Given the description of an element on the screen output the (x, y) to click on. 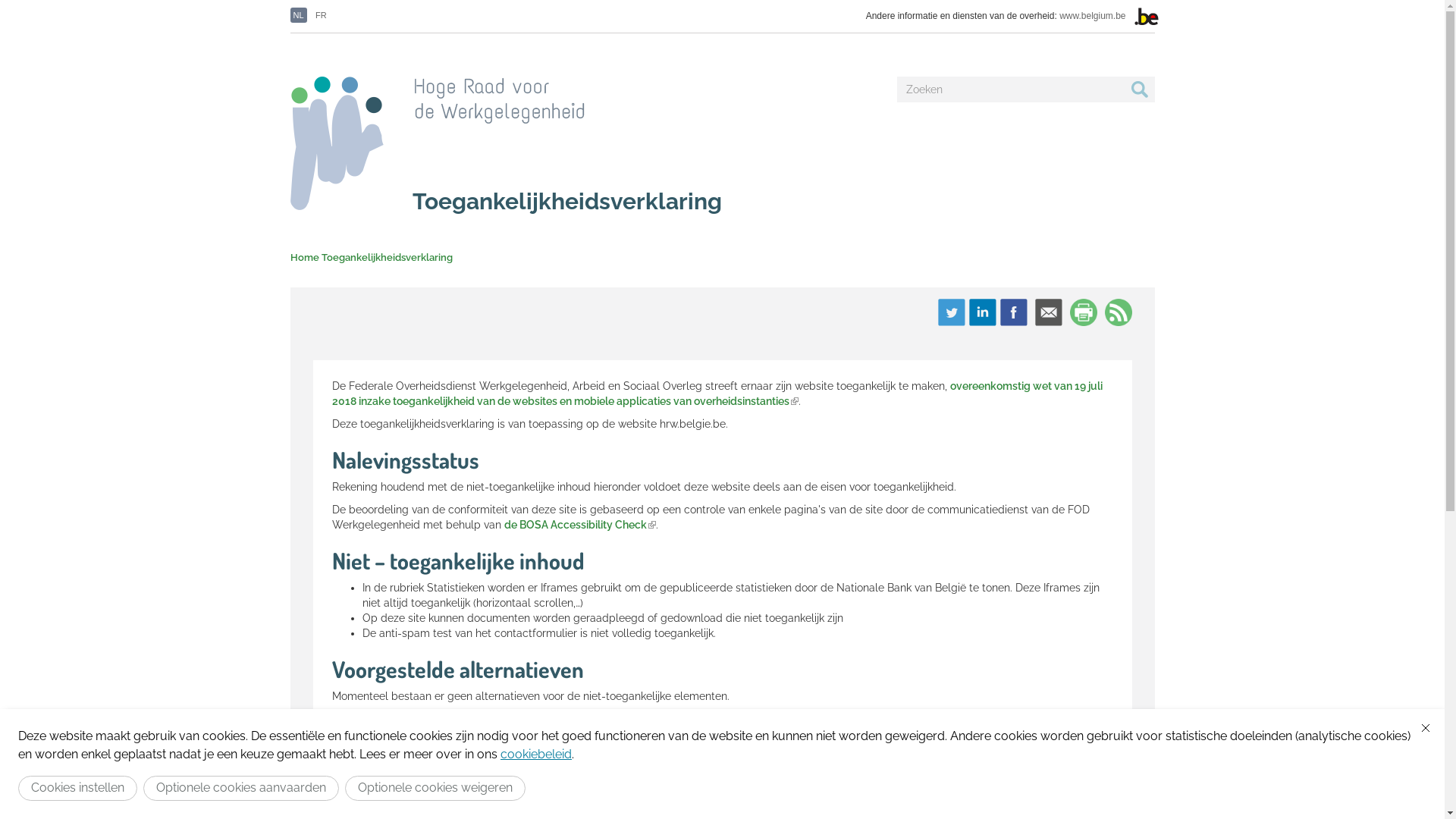
Zoeken Element type: text (1138, 89)
Overslaan en naar de inhoud gaan Element type: text (85, 0)
de BOSA Accessibility Check
(link is external) Element type: text (579, 524)
cookiebeleid Element type: text (535, 753)
linkedin Element type: hover (982, 312)
rss Element type: text (1117, 312)
Sluiten Element type: hover (1425, 727)
FR Element type: text (320, 14)
email Element type: hover (1047, 312)
Optionele cookies weigeren Element type: text (435, 787)
Home Element type: hover (436, 140)
twitter Element type: hover (950, 312)
Zoeken Element type: text (924, 107)
NL Element type: text (297, 14)
www.belgium.be Element type: text (1092, 15)
Cookies instellen Element type: text (77, 787)
Printer-friendly version Element type: text (1082, 312)
Home Element type: text (304, 257)
Enter the terms you wish to search for. Element type: hover (1010, 89)
facebook Element type: hover (1012, 312)
Optionele cookies aanvaarden Element type: text (240, 787)
